Given the description of an element on the screen output the (x, y) to click on. 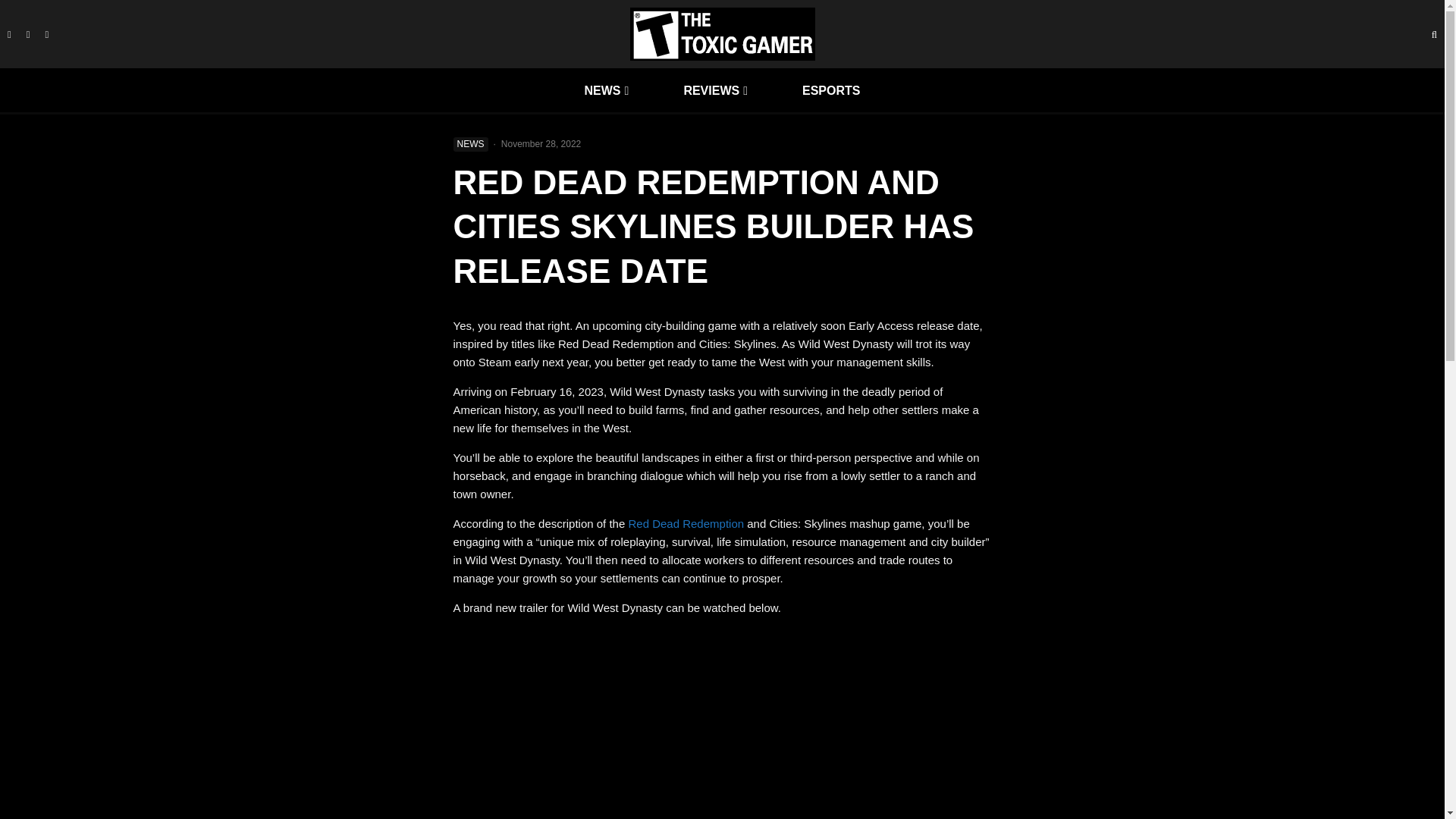
ESPORTS (830, 90)
Red Dead Redemption (685, 522)
NEWS (469, 144)
Wild West Dynasty Release Date Trailer (721, 723)
NEWS (606, 90)
REVIEWS (715, 90)
